Given the description of an element on the screen output the (x, y) to click on. 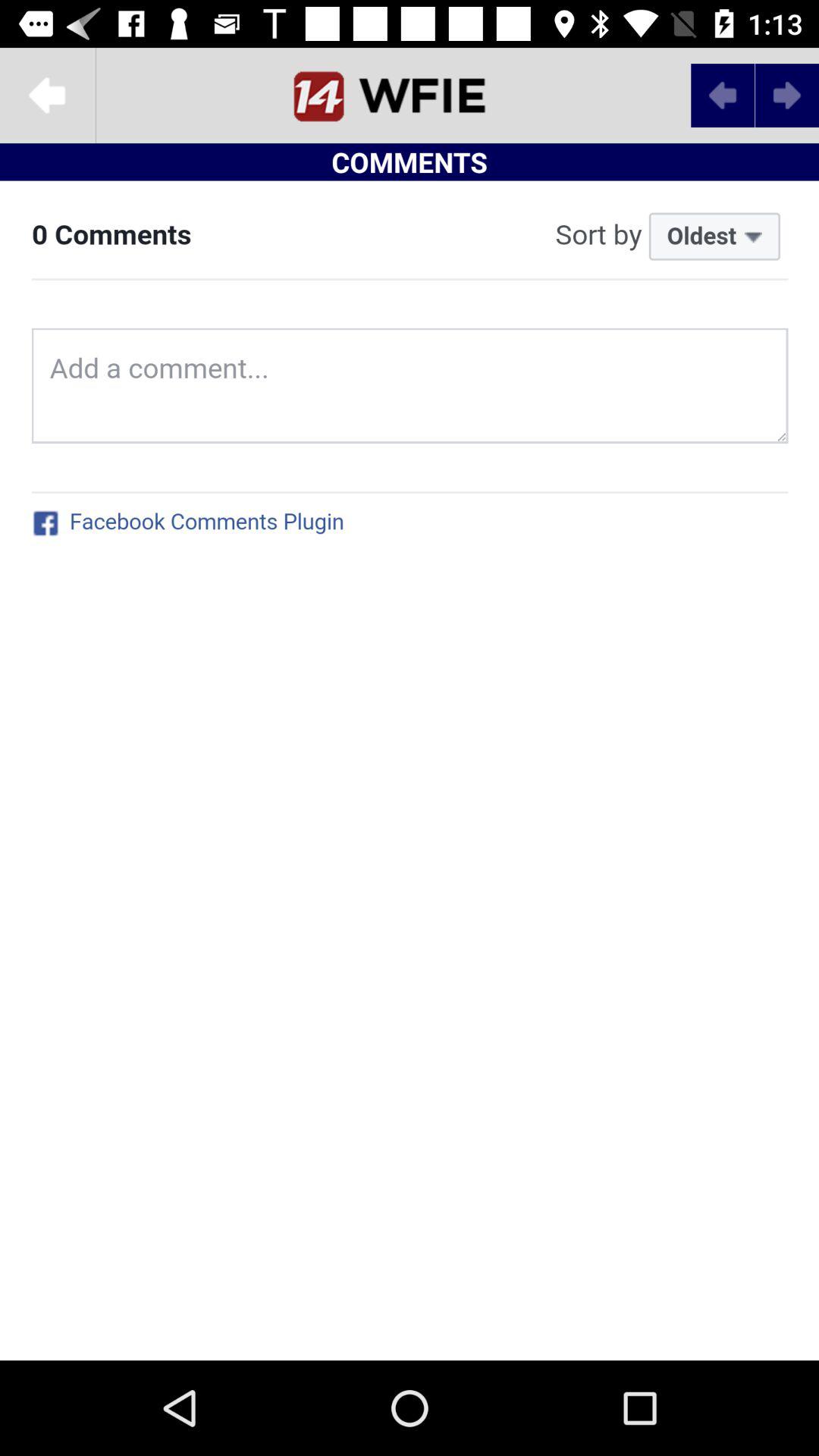
go forward (787, 95)
